Given the description of an element on the screen output the (x, y) to click on. 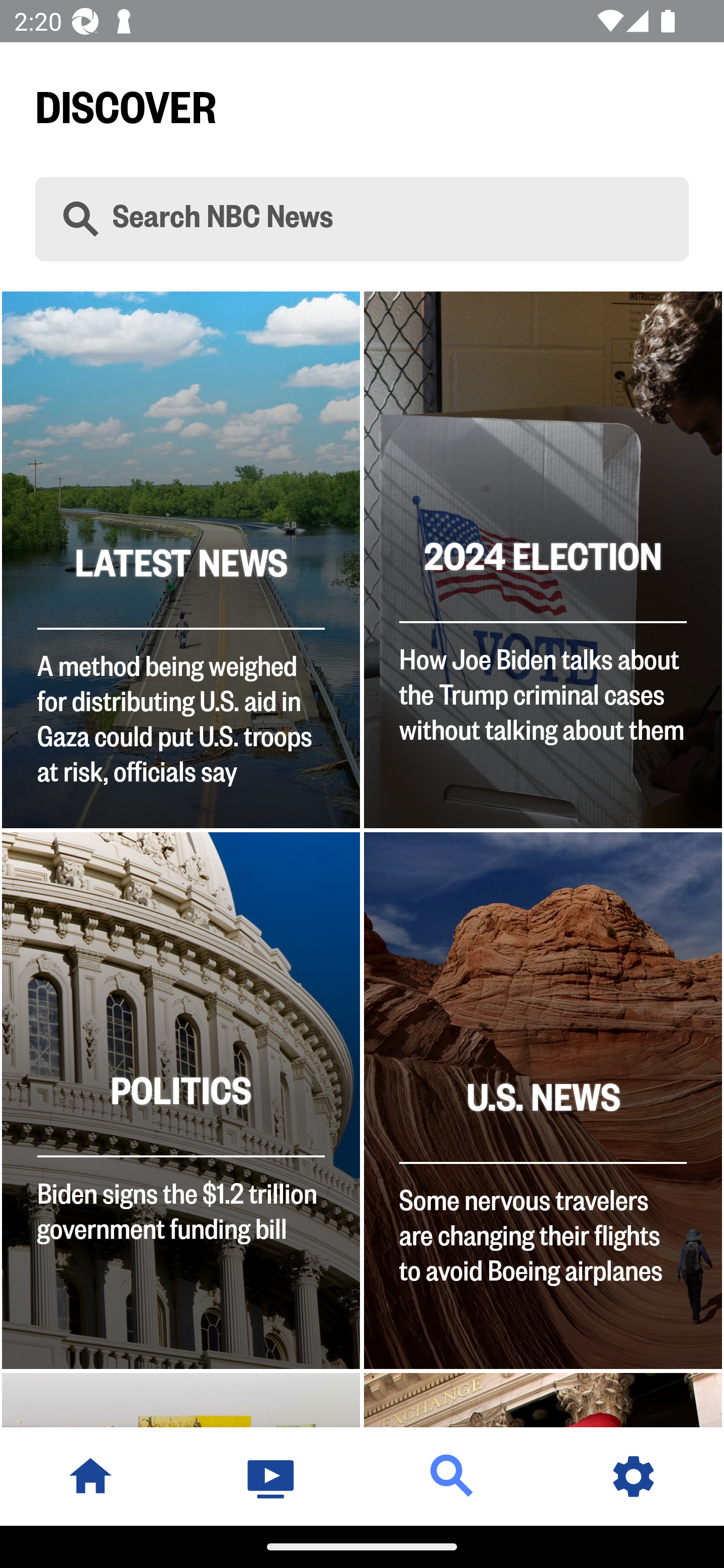
NBC News Home (90, 1475)
Watch (271, 1475)
Settings (633, 1475)
